Given the description of an element on the screen output the (x, y) to click on. 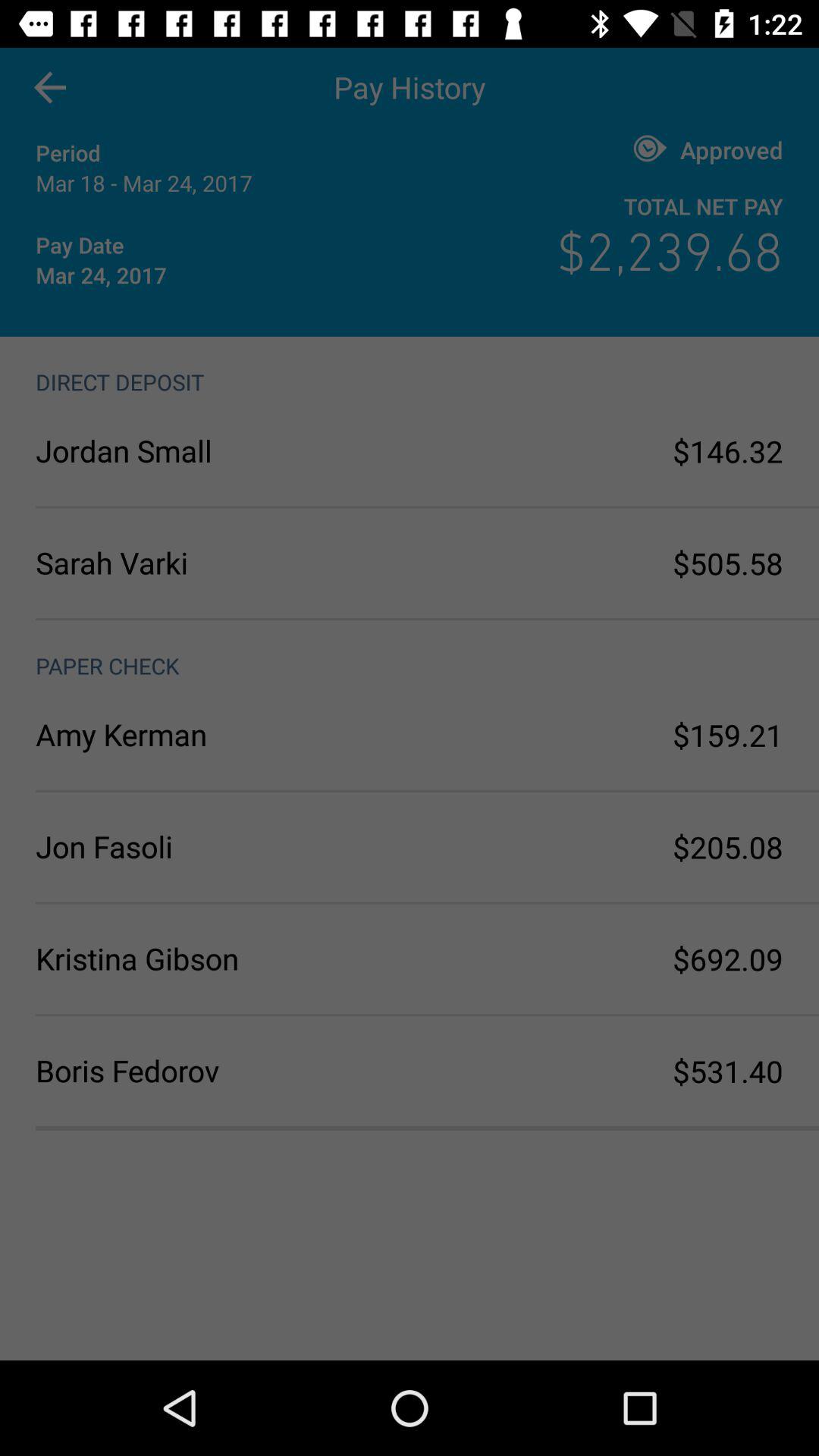
launch jon fasoli (222, 846)
